Given the description of an element on the screen output the (x, y) to click on. 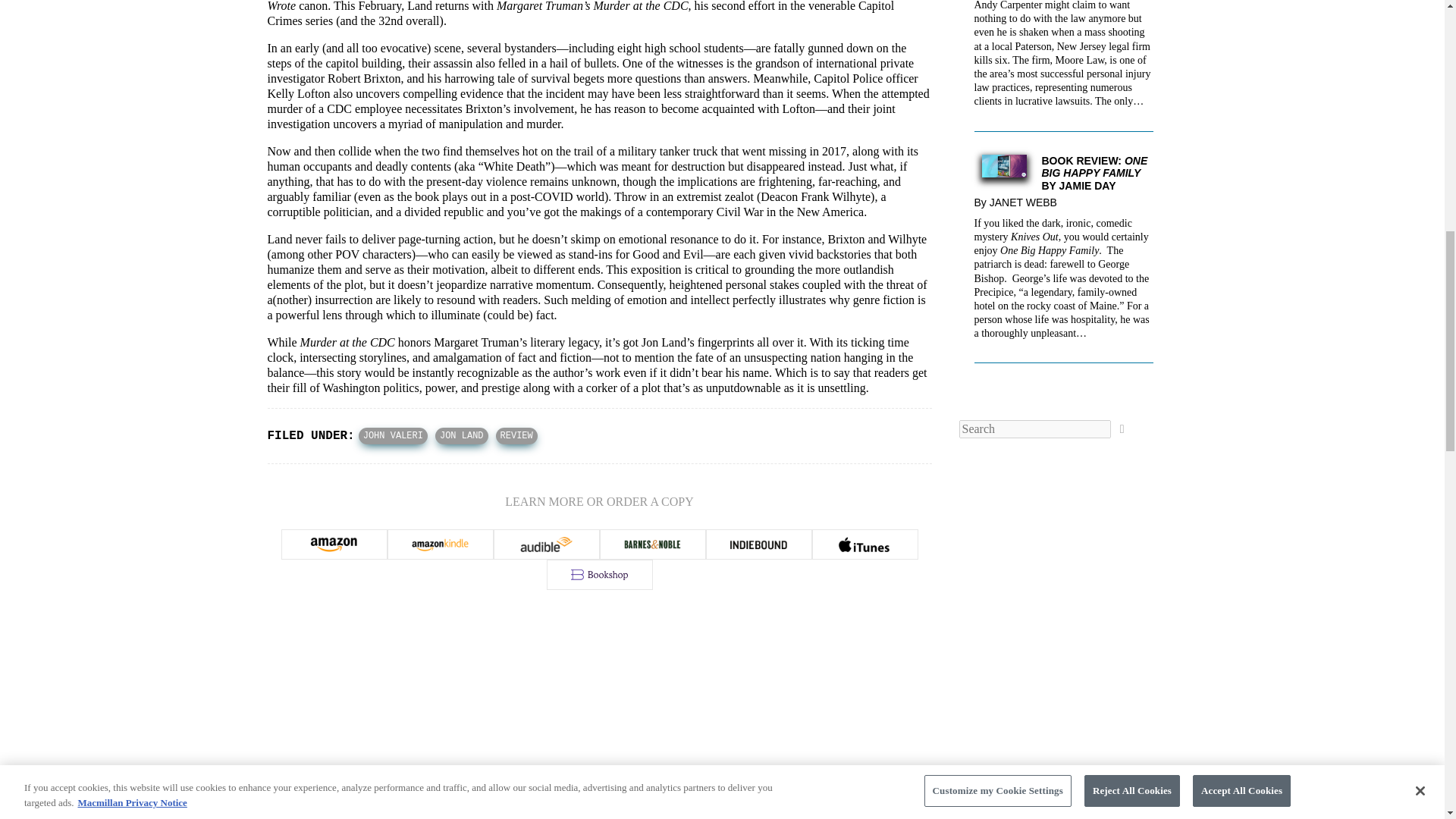
Buy  (599, 574)
Buy  (440, 544)
REVIEW (516, 435)
JOHN VALERI (393, 435)
Buy  (545, 544)
Buy  (334, 544)
3rd party ad content (599, 696)
JON LAND (461, 435)
Buy  (863, 544)
